Given the description of an element on the screen output the (x, y) to click on. 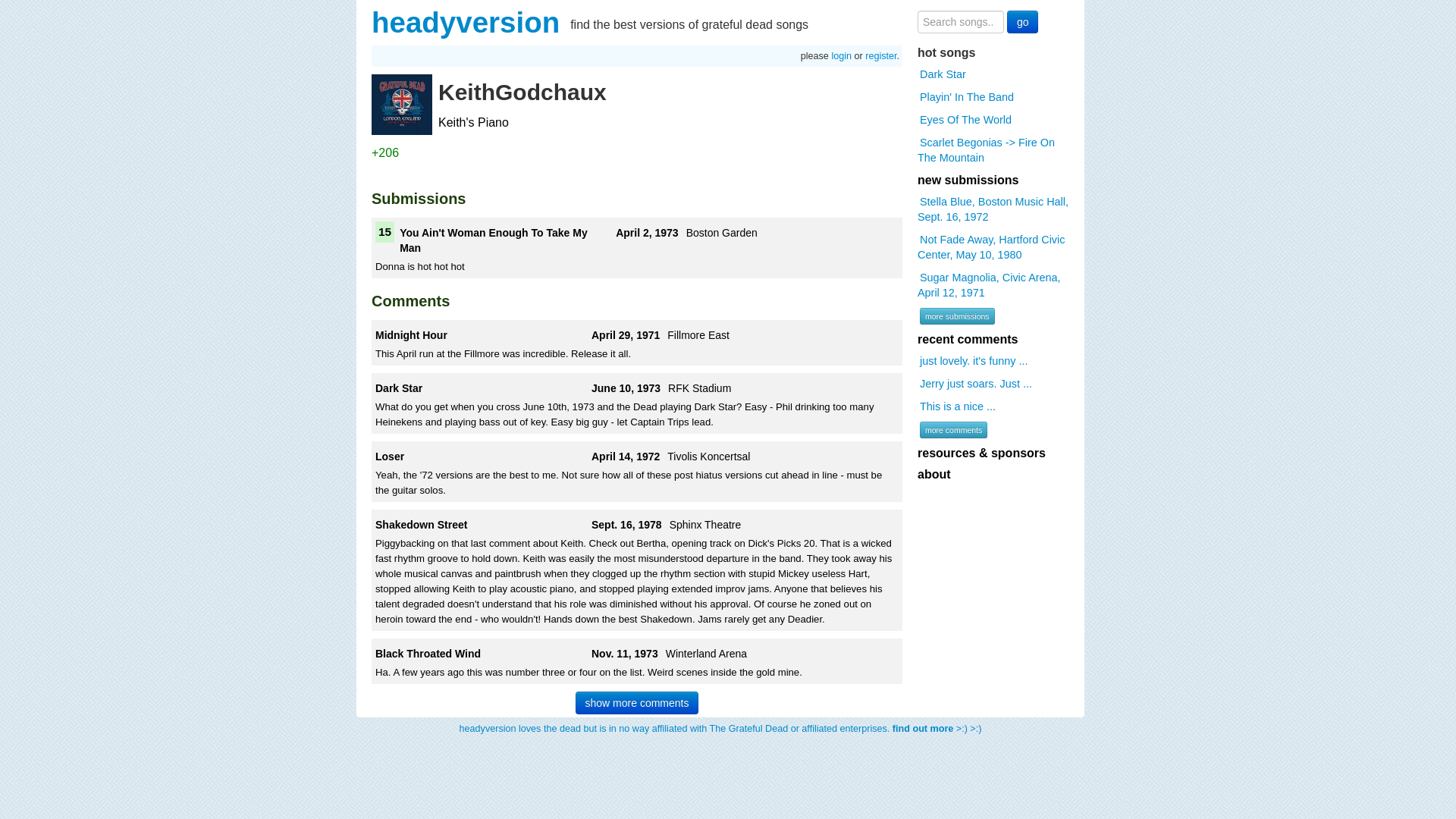
Playin' In The Band (966, 96)
more comments (953, 429)
This is a nice ... (957, 406)
Dark Star (942, 74)
login (841, 55)
headyversion (465, 21)
Not Fade Away, Hartford Civic Center, May 10, 1980 (990, 246)
more submissions (957, 315)
Eyes Of The World (965, 119)
show more comments (636, 702)
Stella Blue, Boston Music Hall, Sept. 16, 1972 (992, 209)
register (880, 55)
new submissions (967, 179)
